Given the description of an element on the screen output the (x, y) to click on. 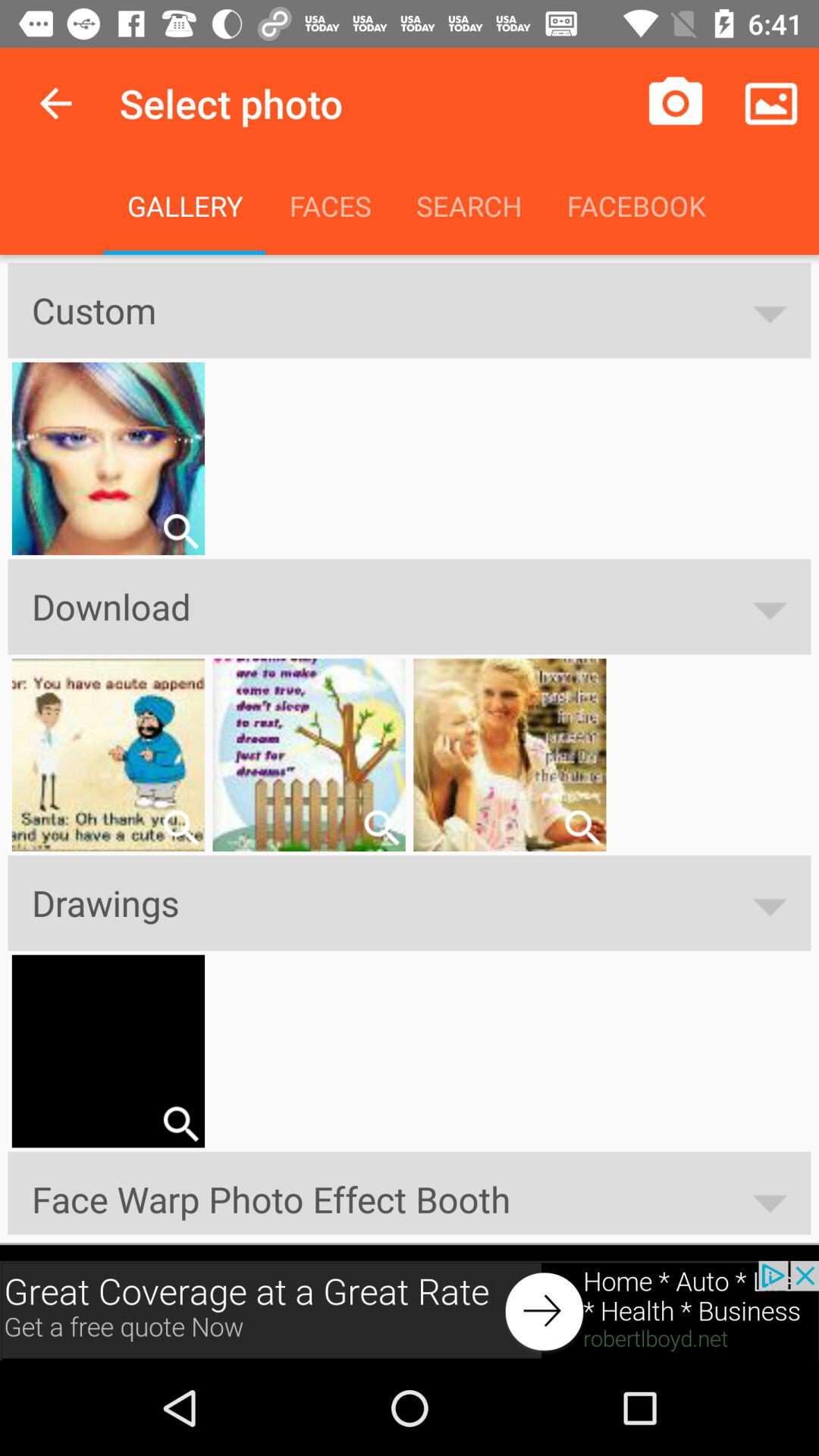
open the image (180, 827)
